Given the description of an element on the screen output the (x, y) to click on. 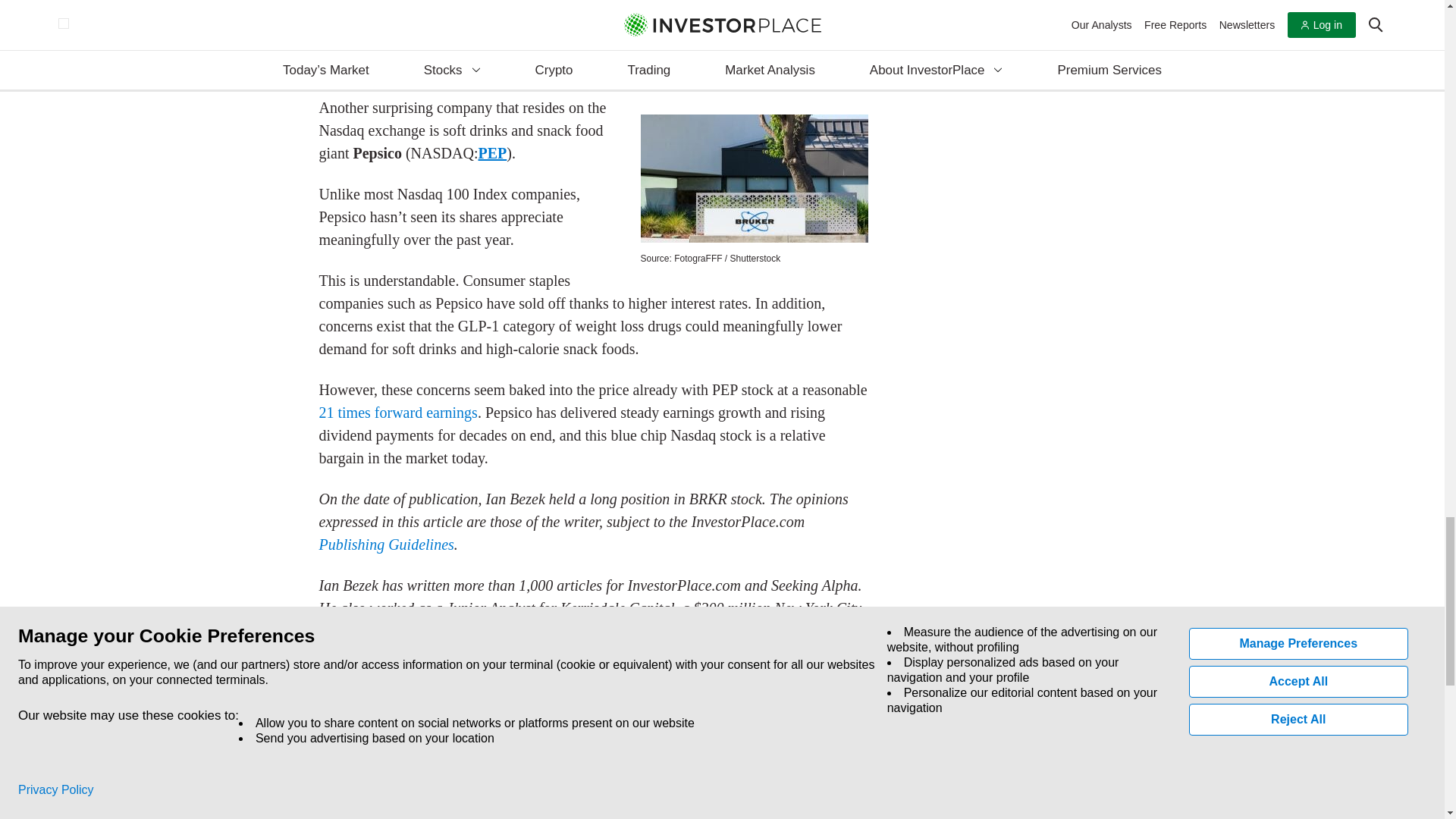
Articles from Healthcare industry (562, 671)
Articles from Quantum Computing industry (732, 671)
Articles from Semiconductor industry (363, 694)
Articles from Biotech industry (341, 671)
Articles from Dividend Stocks stock type (368, 735)
Articles from Technology industry (451, 694)
Articles from Food industry (507, 671)
Articles from Consumer Staples industry (428, 671)
Articles from Industrial industry (631, 671)
